Given the description of an element on the screen output the (x, y) to click on. 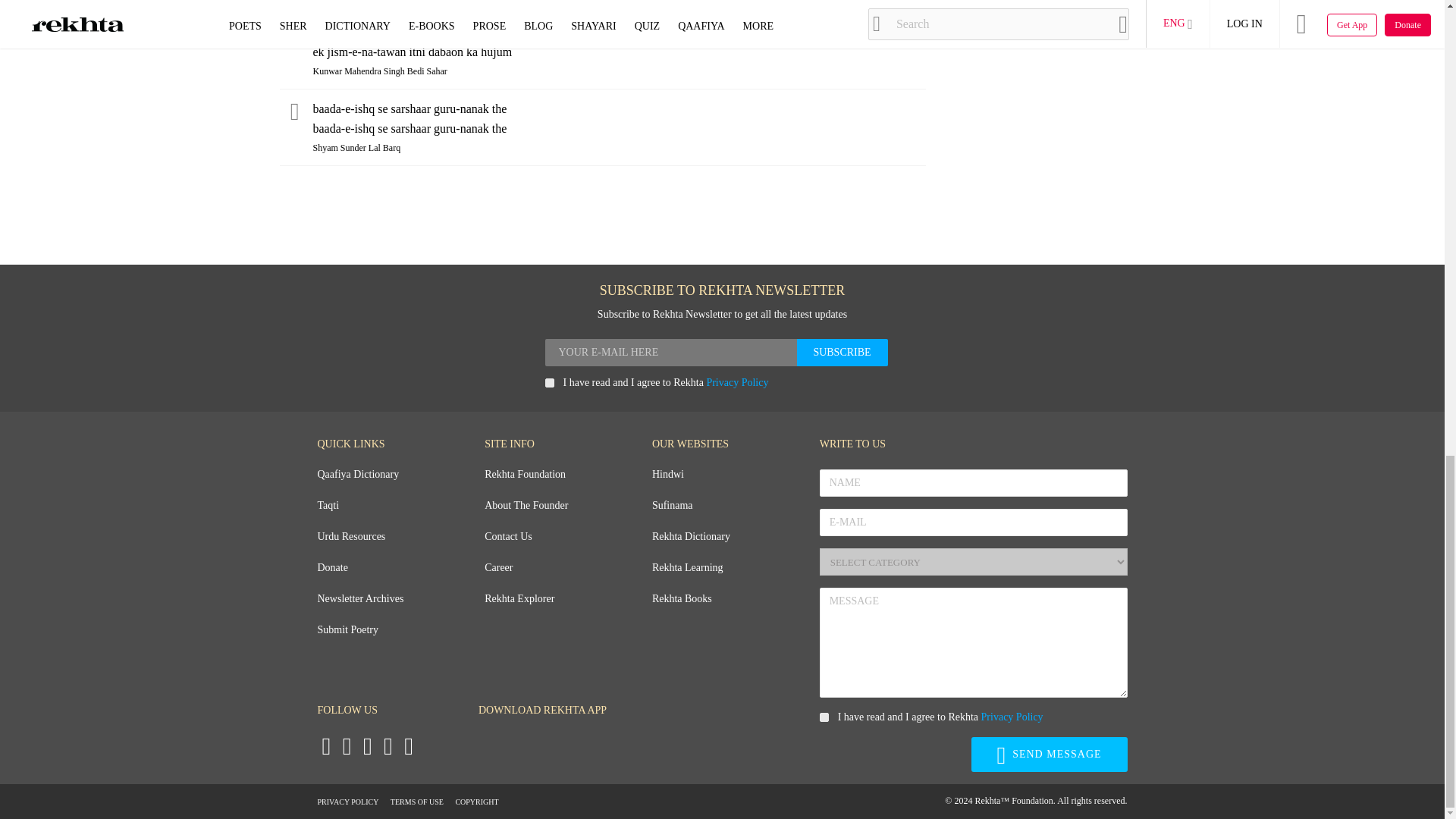
Favorites (293, 113)
Favorites (293, 37)
SUBSCRIBE (841, 352)
baba guru-nanak dev (618, 32)
baada-e-ishq se sarshaar guru-nanak the (618, 109)
